Given the description of an element on the screen output the (x, y) to click on. 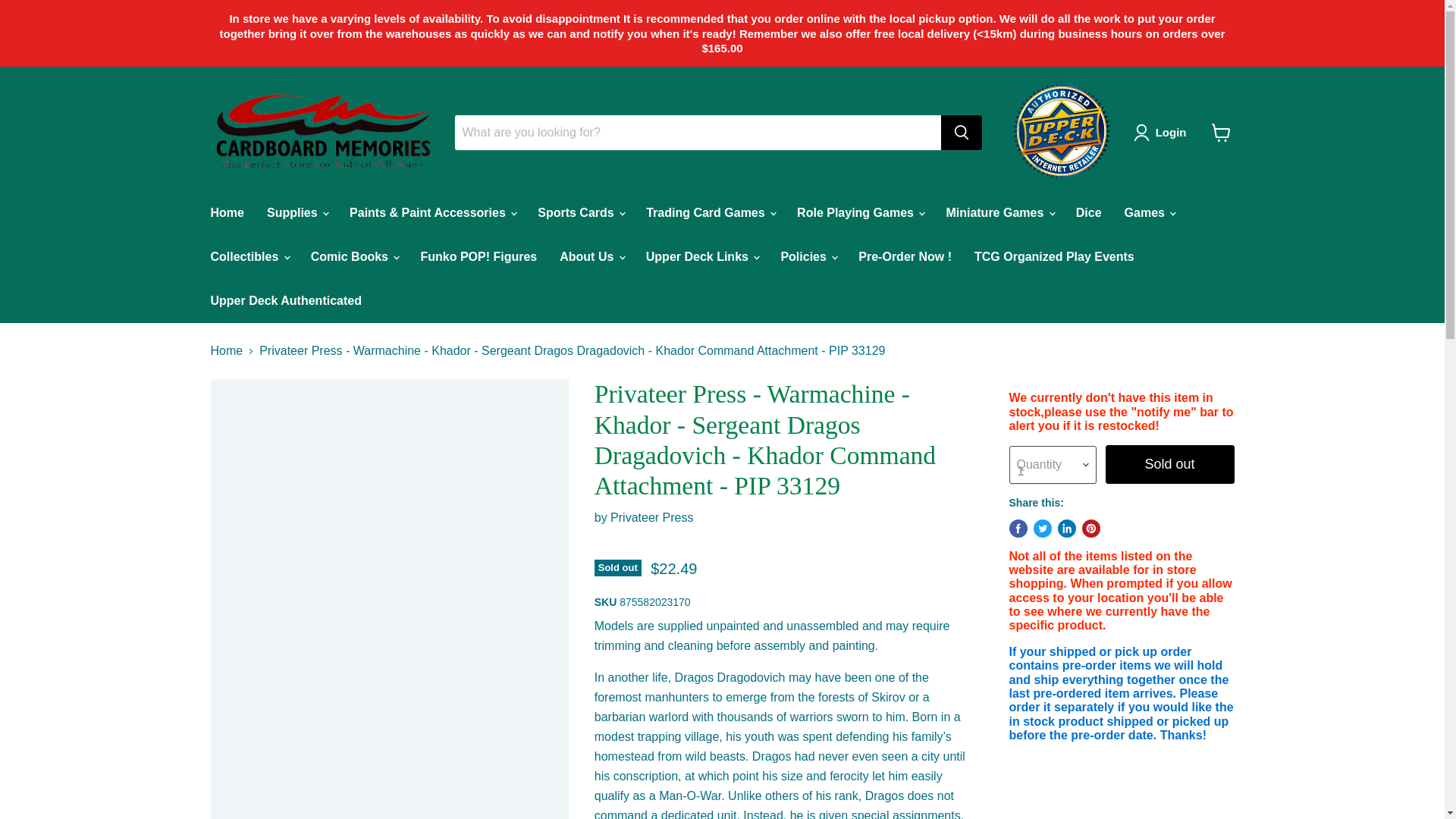
Home (226, 213)
View cart (1221, 132)
Privateer Press (651, 517)
Login (1171, 132)
